Given the description of an element on the screen output the (x, y) to click on. 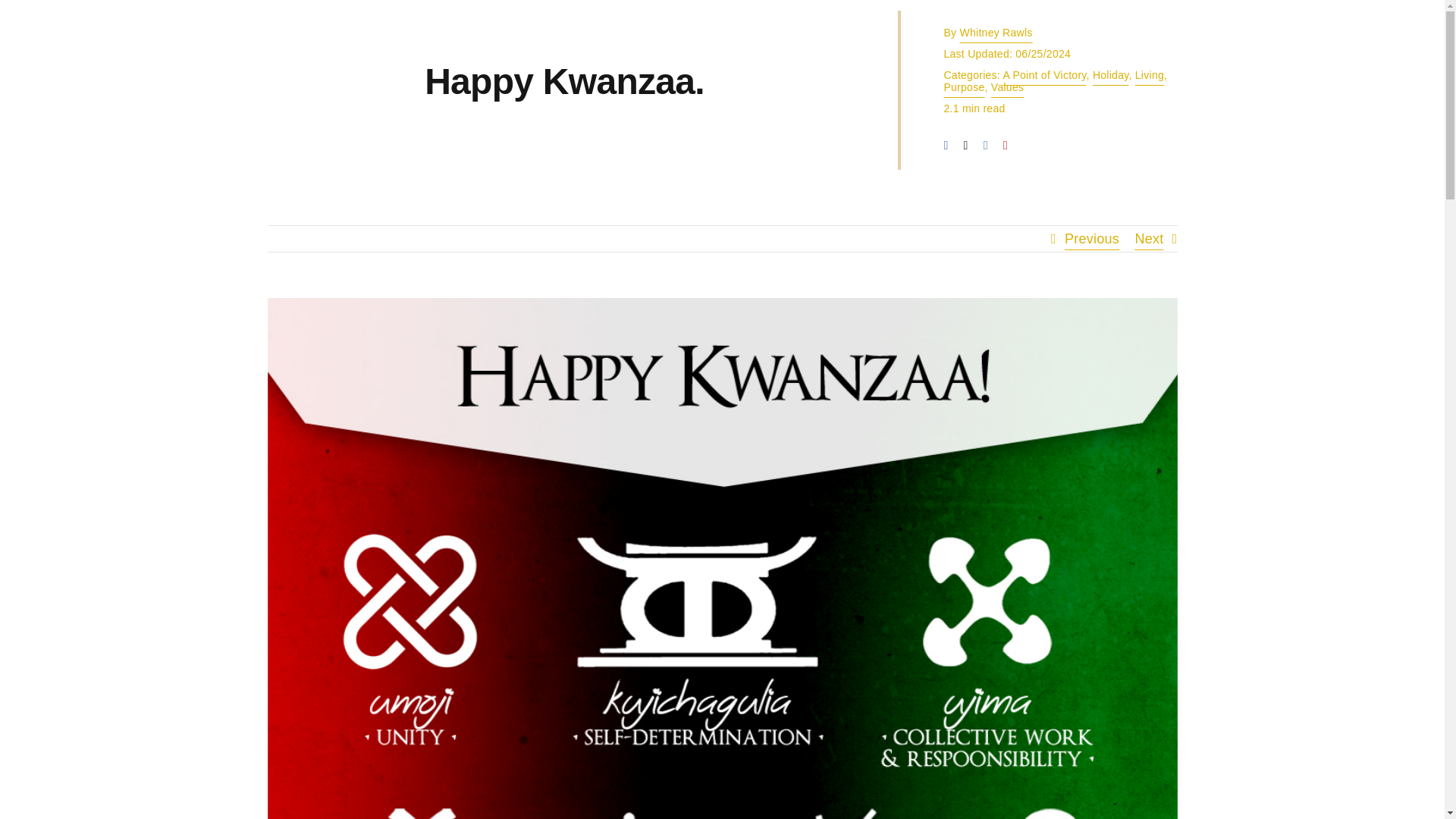
Whitney Rawls (995, 32)
A Point of Victory (1044, 74)
Values (1007, 87)
Posts by Whitney Rawls (995, 32)
Living (1149, 74)
Next (1148, 238)
Purpose (963, 87)
Holiday (1111, 74)
Previous (1091, 238)
